Given the description of an element on the screen output the (x, y) to click on. 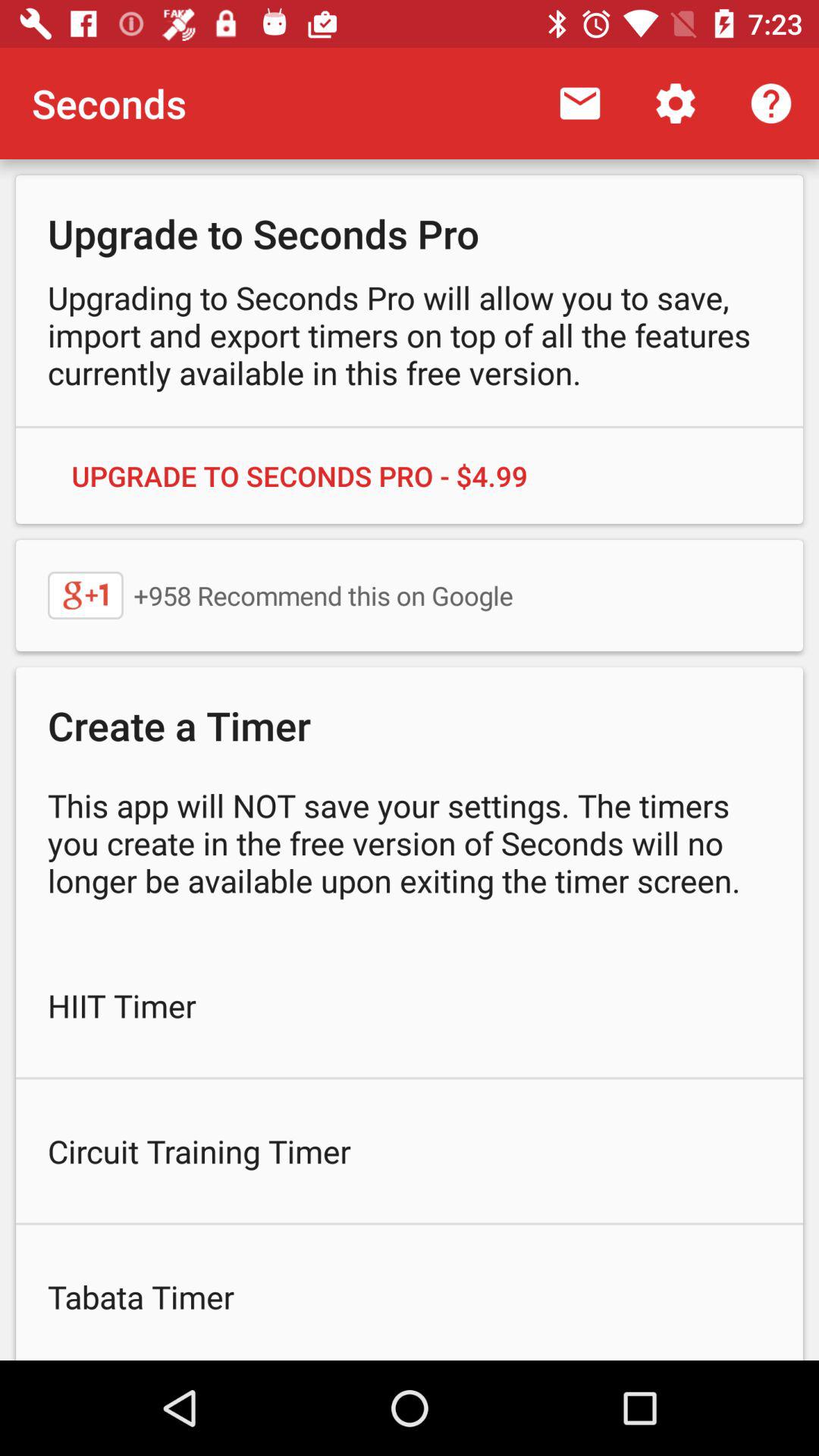
jump to circuit training timer icon (409, 1150)
